Given the description of an element on the screen output the (x, y) to click on. 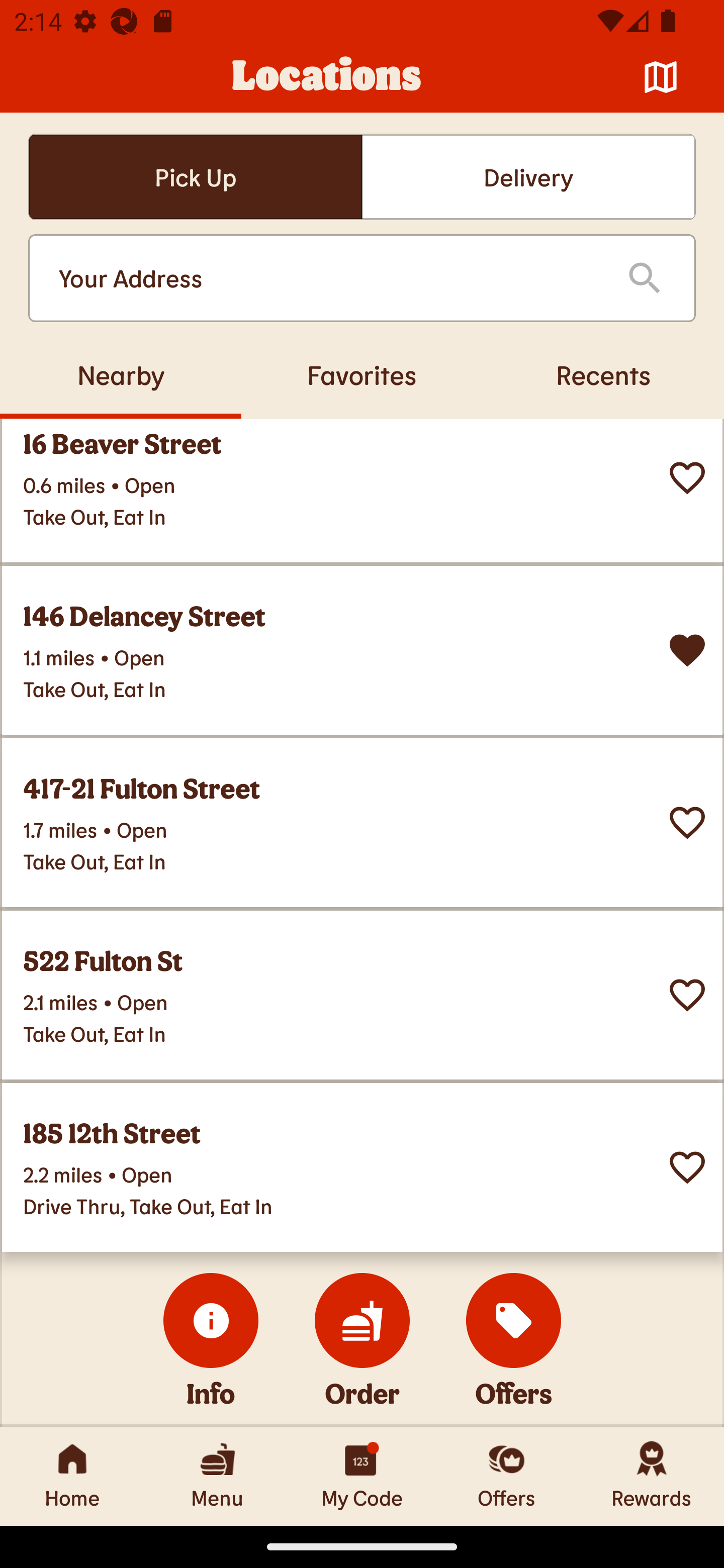
Map 󰦂 (660, 77)
Locations (326, 77)
Pick UpSelected Pick UpSelected Pick Up (195, 176)
Delivery Delivery Delivery (528, 176)
Your Address (327, 277)
Nearby (120, 374)
Favorites (361, 374)
Recents (603, 374)
Set this restaurant as a favorite  (687, 477)
Remove from Favorites?  (687, 649)
Set this restaurant as a favorite  (687, 822)
Set this restaurant as a favorite  (687, 994)
Set this restaurant as a favorite  (687, 1167)
Info  (210, 1320)
Order (361, 1320)
Offers  (513, 1320)
Home (72, 1475)
Menu (216, 1475)
My Code (361, 1475)
Offers (506, 1475)
Rewards (651, 1475)
